Given the description of an element on the screen output the (x, y) to click on. 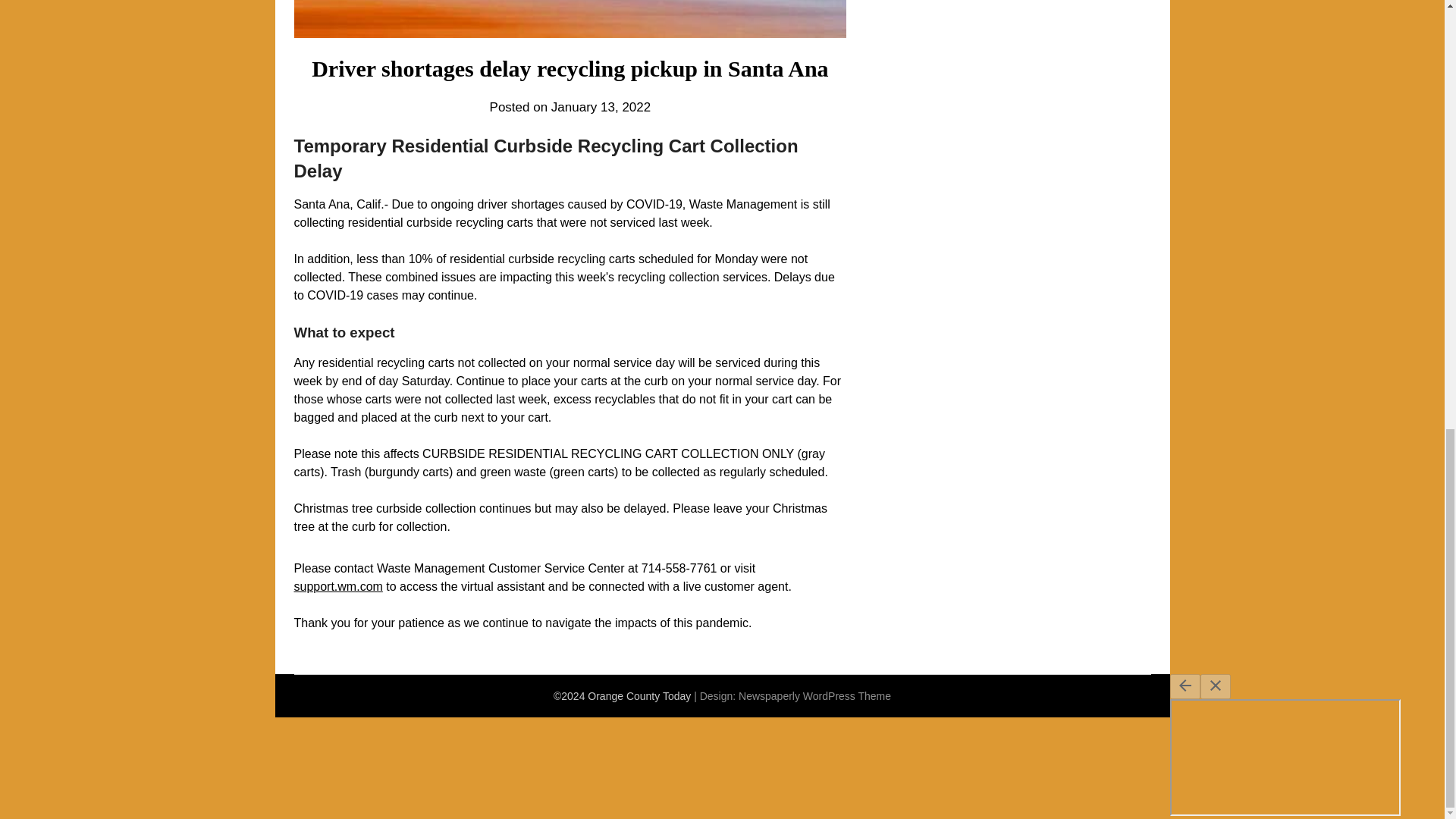
support.wm.com (338, 585)
Newspaperly WordPress Theme (814, 695)
